Given the description of an element on the screen output the (x, y) to click on. 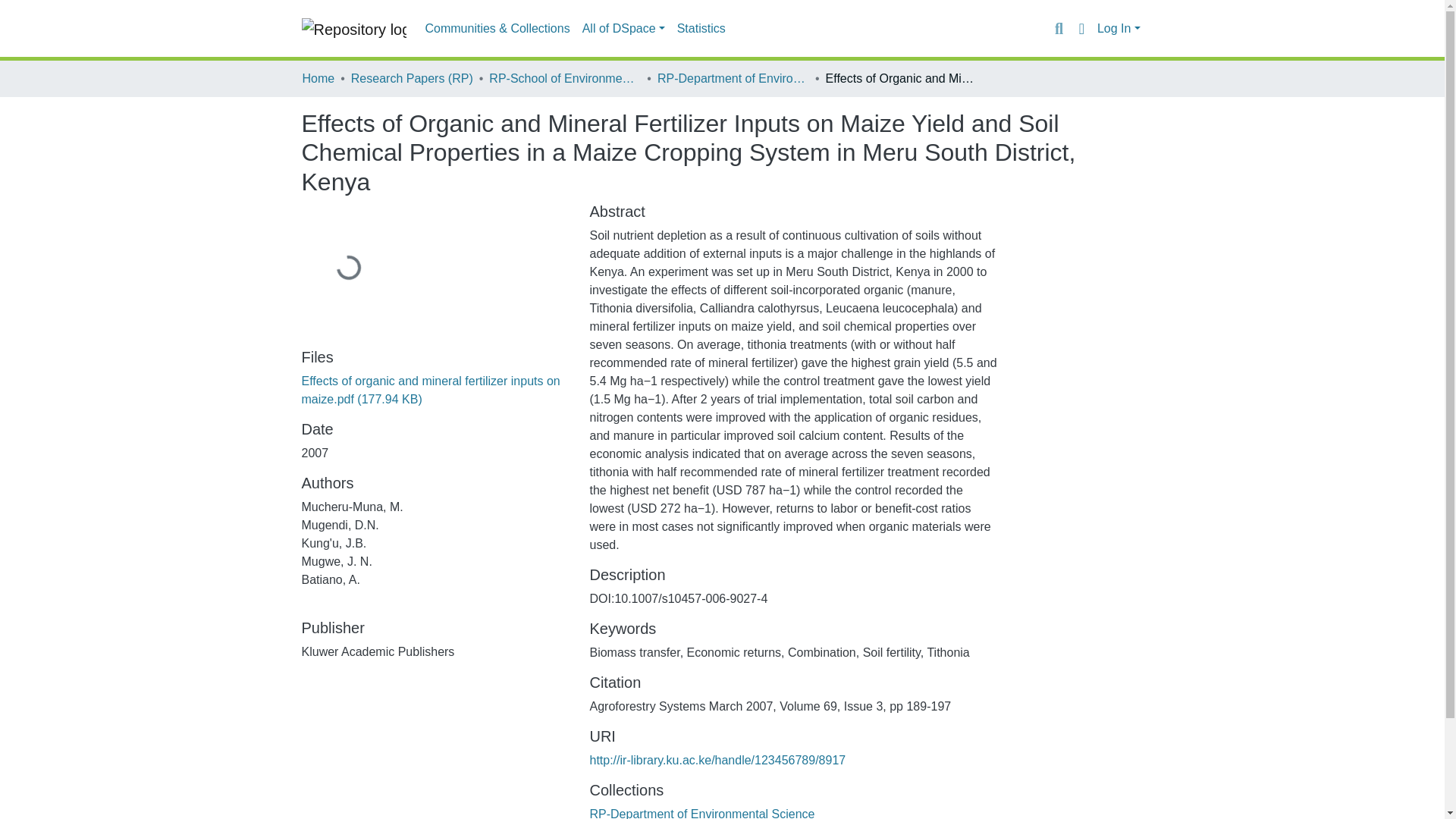
Search (1058, 28)
RP-Department of Environmental Science (733, 78)
Home (317, 78)
RP-School of Environmental Studies (564, 78)
Statistics (701, 28)
All of DSpace (623, 28)
Statistics (701, 28)
Language switch (1081, 28)
RP-Department of Environmental Science (701, 813)
Log In (1118, 28)
